Given the description of an element on the screen output the (x, y) to click on. 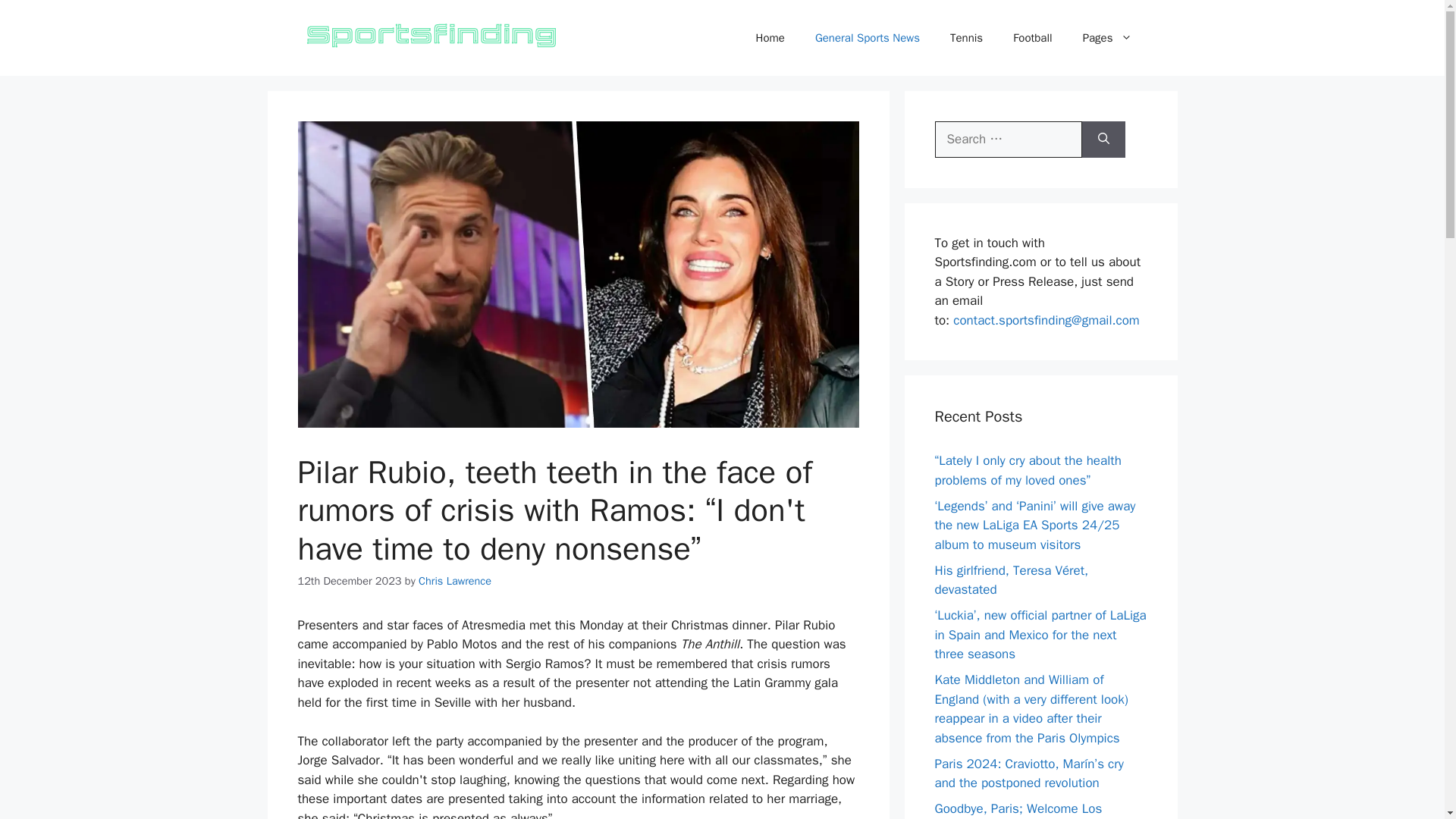
Pages (1107, 37)
Goodbye, Paris; Welcome Los Angeles 2028 (1018, 809)
Tennis (965, 37)
Home (770, 37)
Search for: (1007, 139)
View all posts by Chris Lawrence (455, 581)
General Sports News (866, 37)
Chris Lawrence (455, 581)
Football (1032, 37)
